Given the description of an element on the screen output the (x, y) to click on. 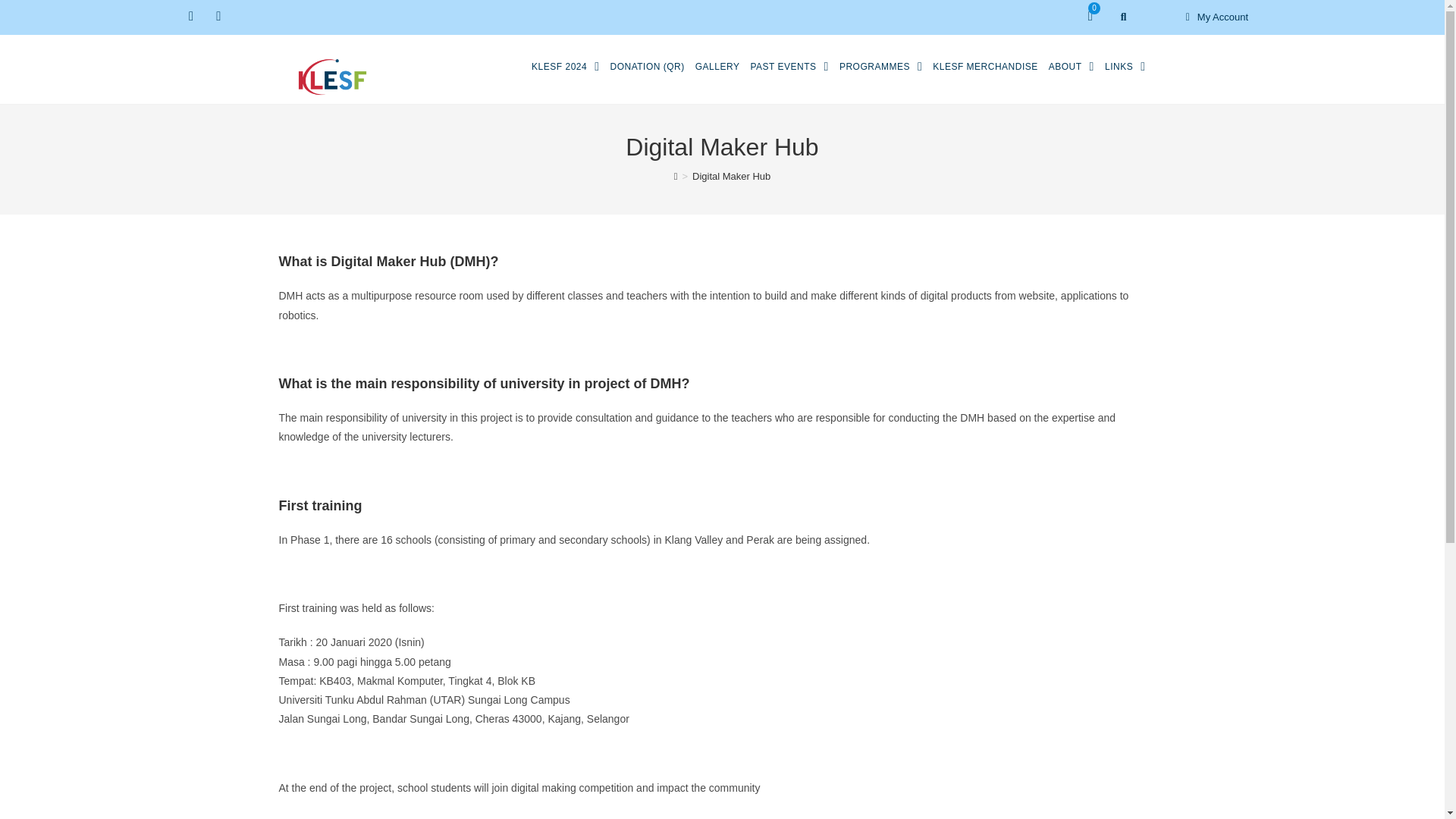
My Account (1211, 16)
